Given the description of an element on the screen output the (x, y) to click on. 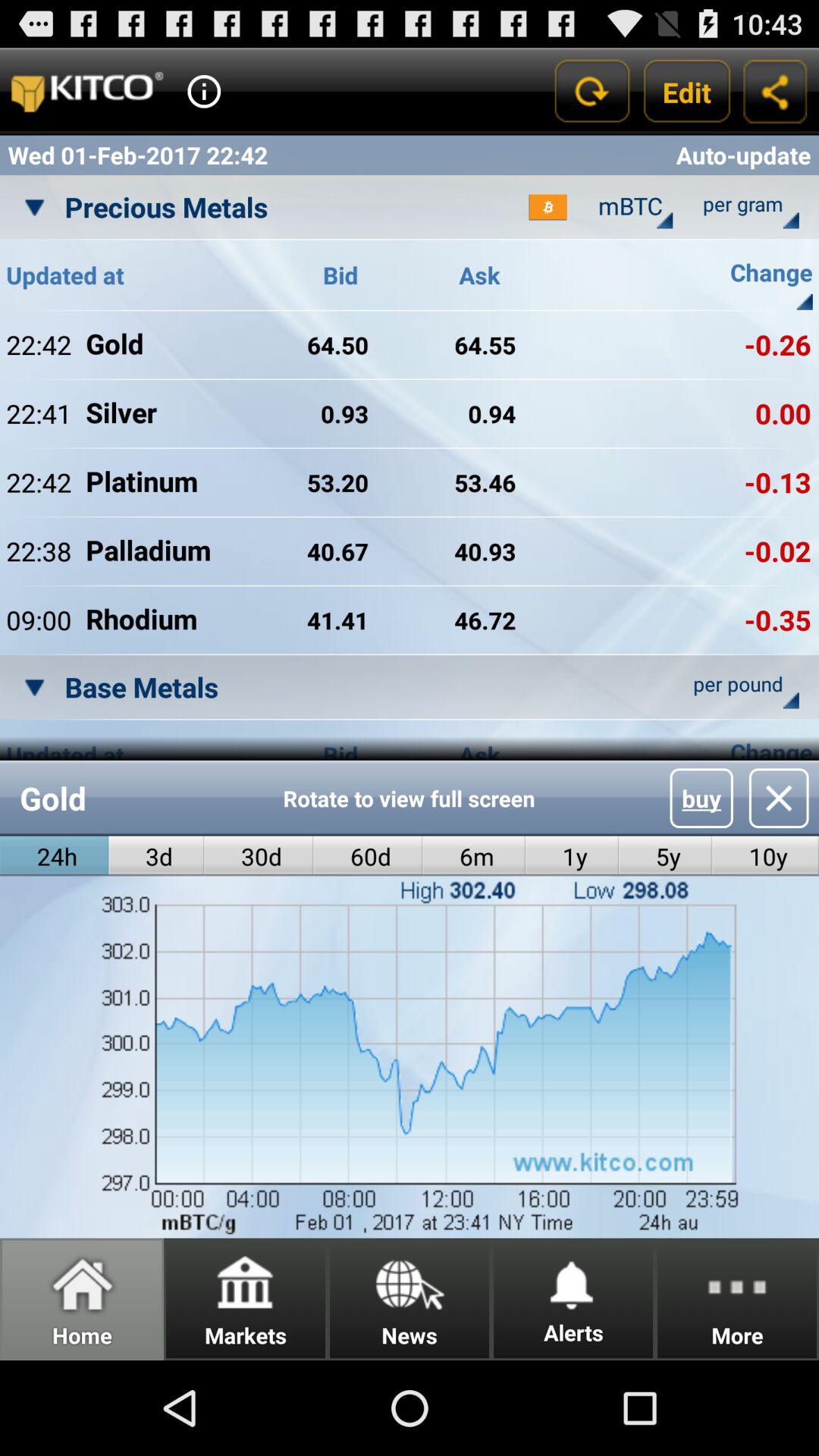
turn off the item to the right of the 3d radio button (258, 856)
